Given the description of an element on the screen output the (x, y) to click on. 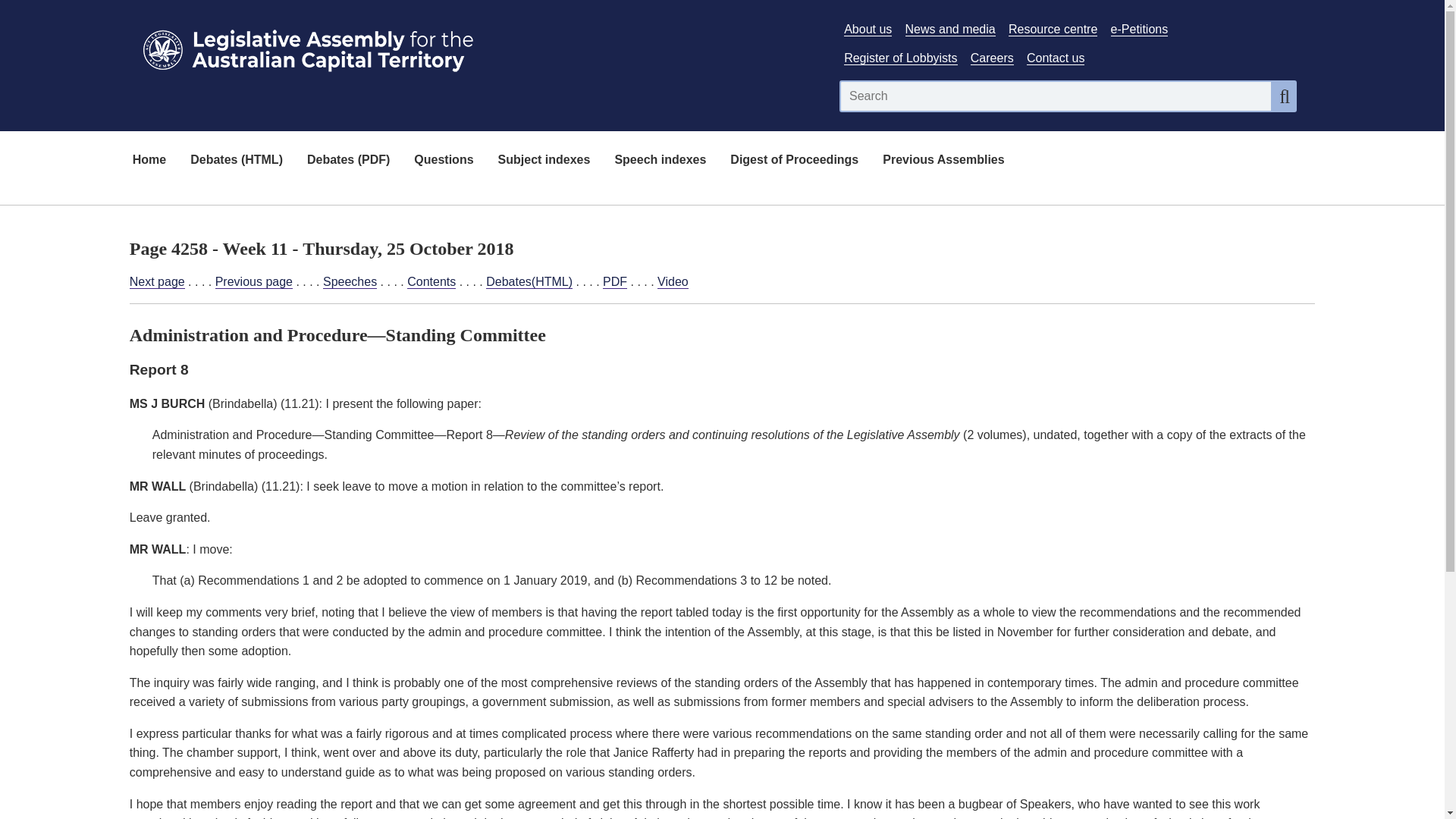
Next page (156, 282)
Search input field (1056, 96)
Link to Careers (992, 58)
Link to Register of Lobbyists (900, 58)
Link to Resource centre (1053, 29)
Questions (442, 160)
Contents (431, 282)
Previous Assemblies (943, 160)
News and media (950, 29)
Link to News and media (950, 29)
